Given the description of an element on the screen output the (x, y) to click on. 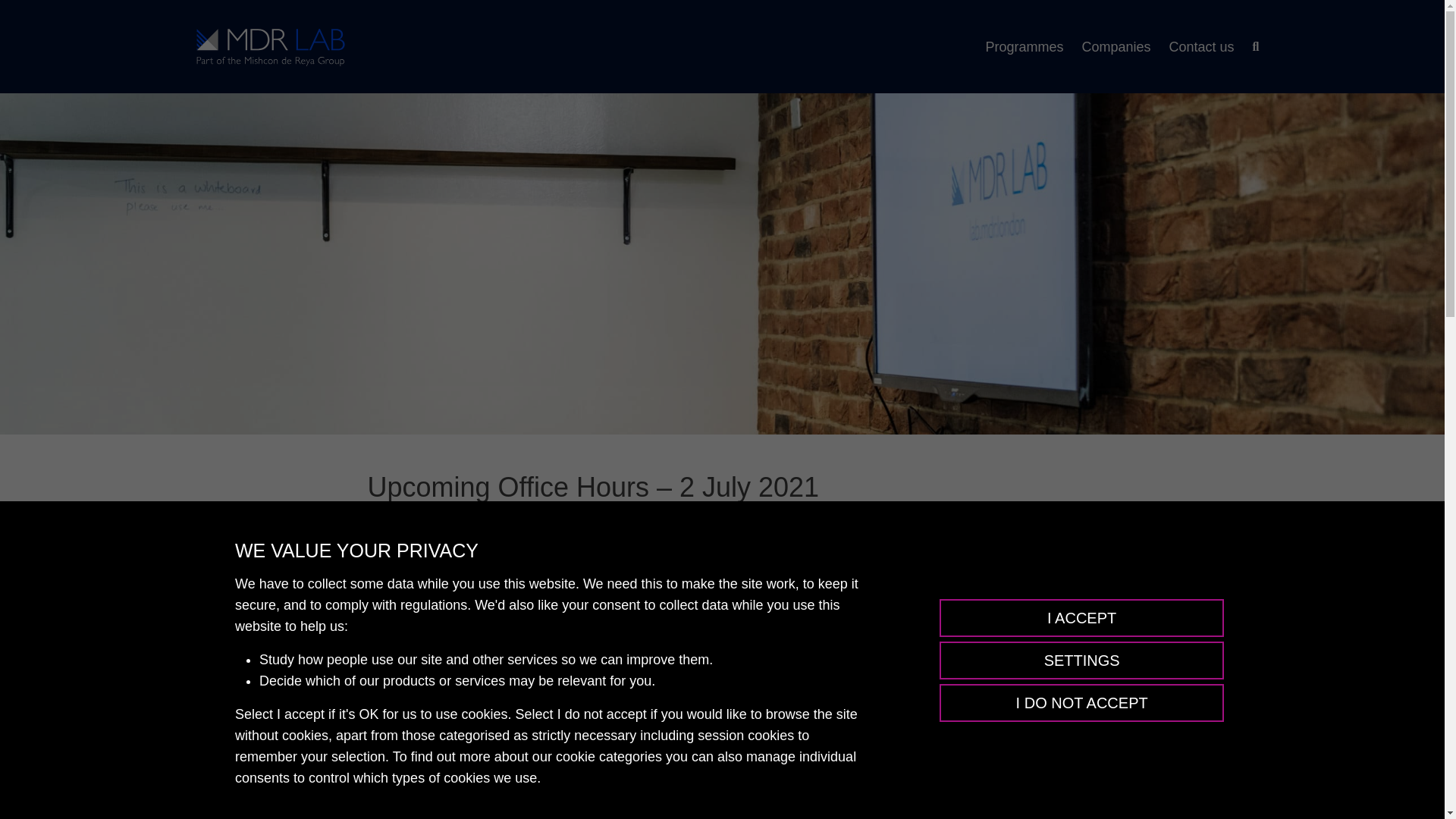
Programmes (1023, 46)
Articles (396, 786)
learn more about our Office Hours (489, 686)
Companies (1115, 46)
submit your application (595, 647)
Contact us (1201, 46)
